Given the description of an element on the screen output the (x, y) to click on. 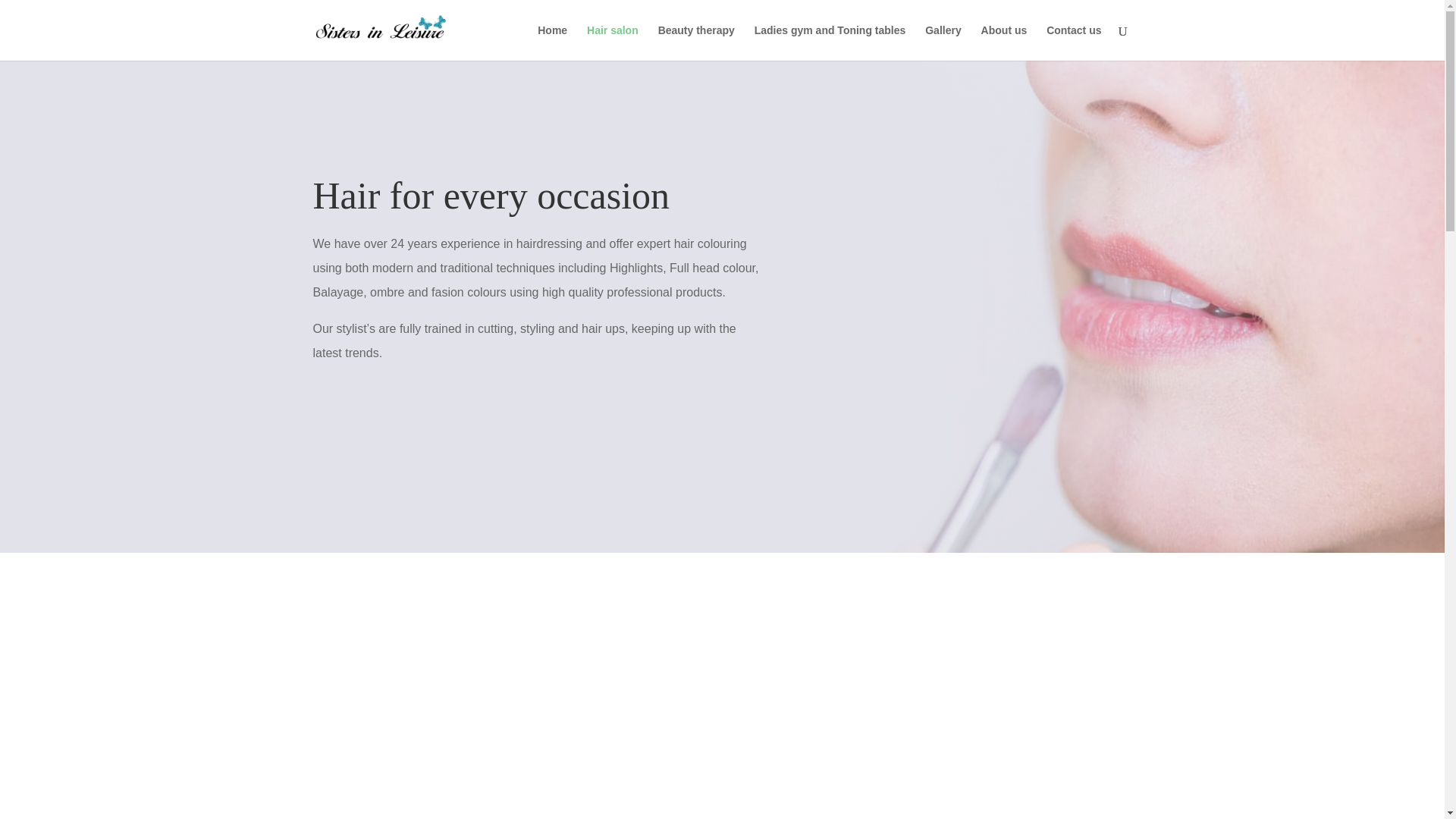
Gallery (942, 42)
Hair salon (612, 42)
Ladies gym and Toning tables (829, 42)
Contact us (1073, 42)
Beauty therapy (696, 42)
About us (1004, 42)
